Given the description of an element on the screen output the (x, y) to click on. 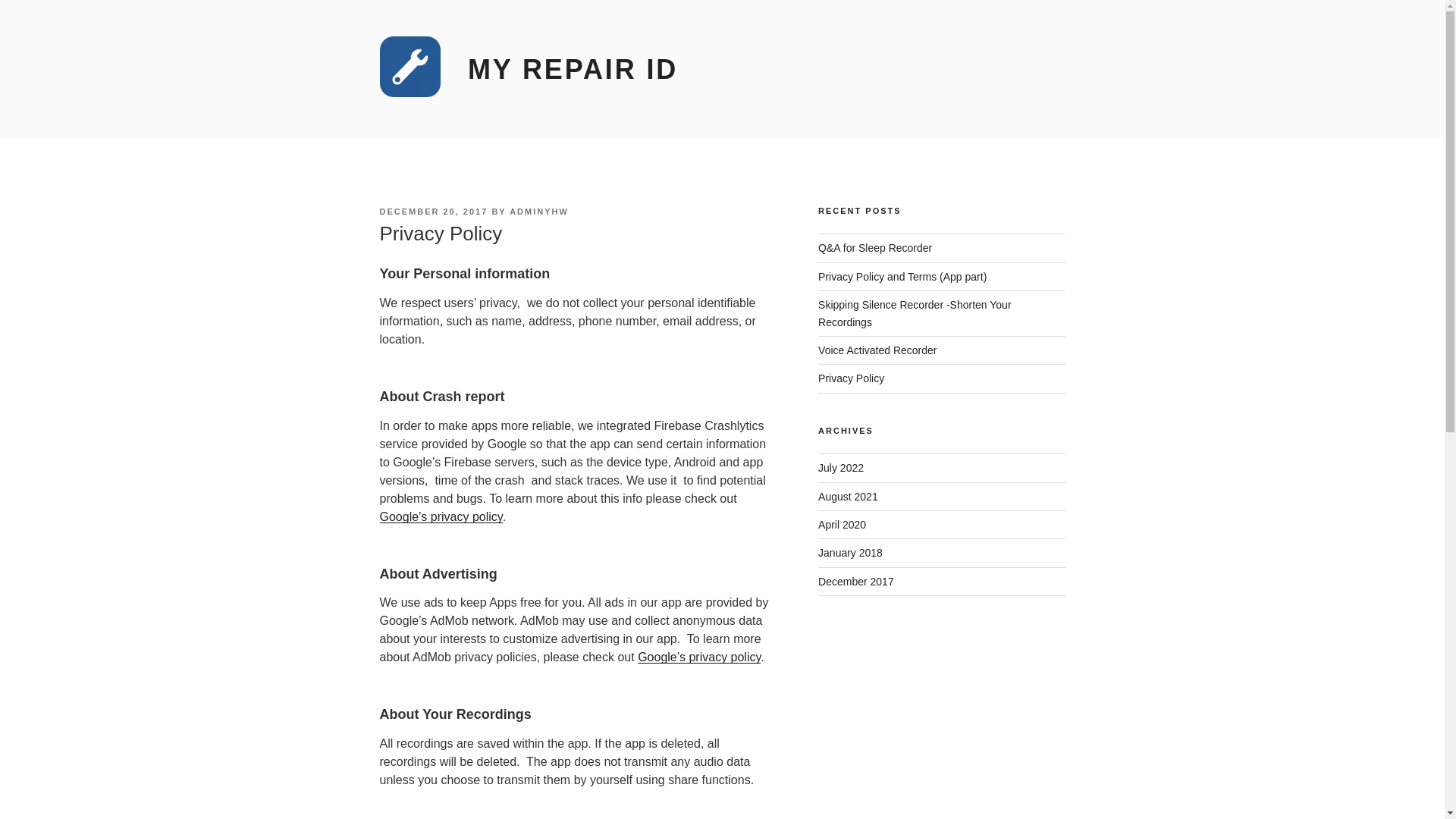
MY REPAIR ID (572, 69)
Voice Activated Recorder (877, 349)
Skipping Silence Recorder -Shorten Your Recordings (914, 312)
July 2022 (840, 467)
December 2017 (855, 581)
Privacy Policy (850, 378)
DECEMBER 20, 2017 (432, 211)
ADMINYHW (539, 211)
August 2021 (847, 496)
January 2018 (850, 552)
April 2020 (842, 524)
